Given the description of an element on the screen output the (x, y) to click on. 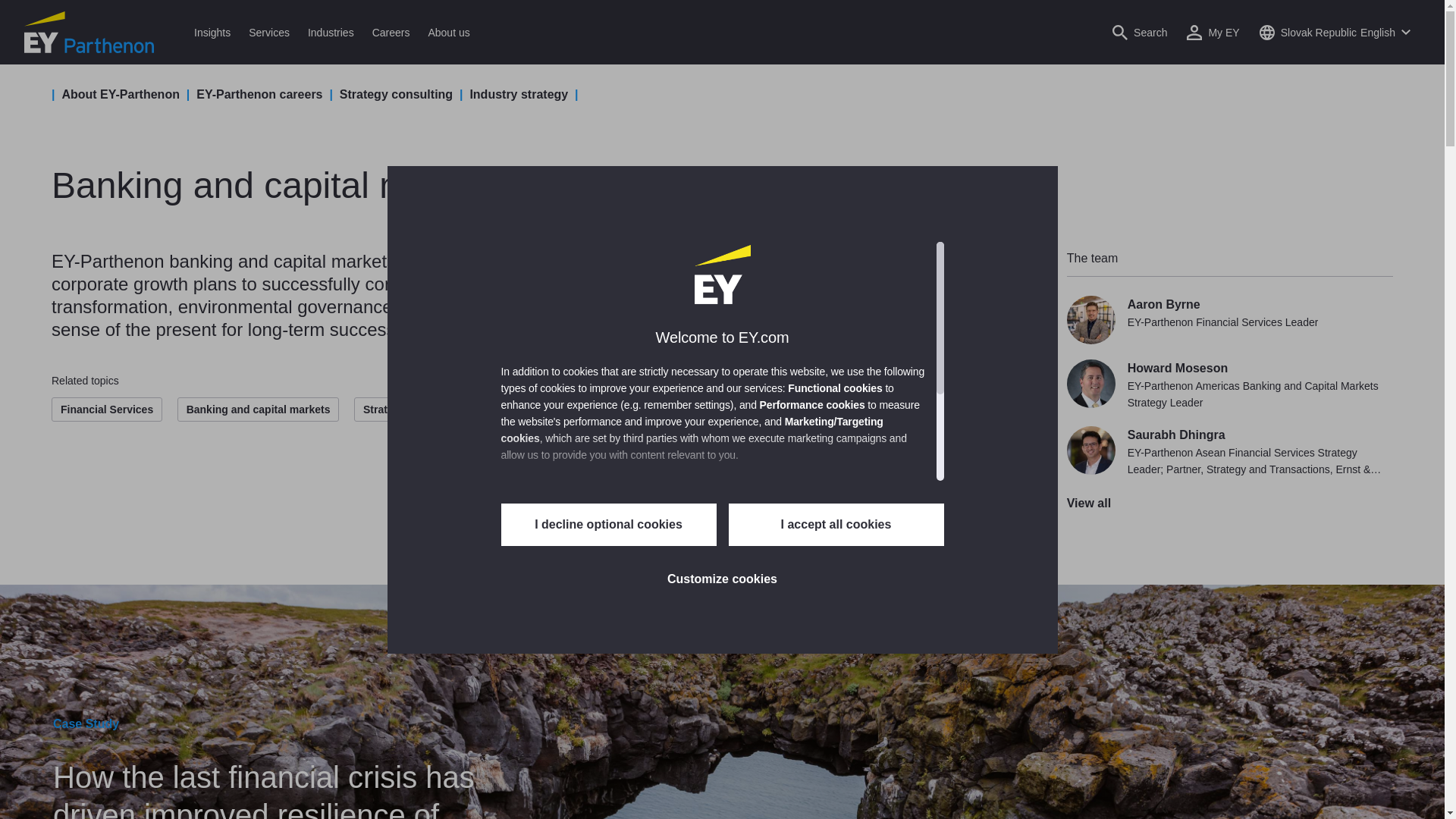
My EY (1212, 32)
Open country language switcher (1334, 32)
Open search (1139, 32)
EY Parthenon Home Page (89, 32)
